Given the description of an element on the screen output the (x, y) to click on. 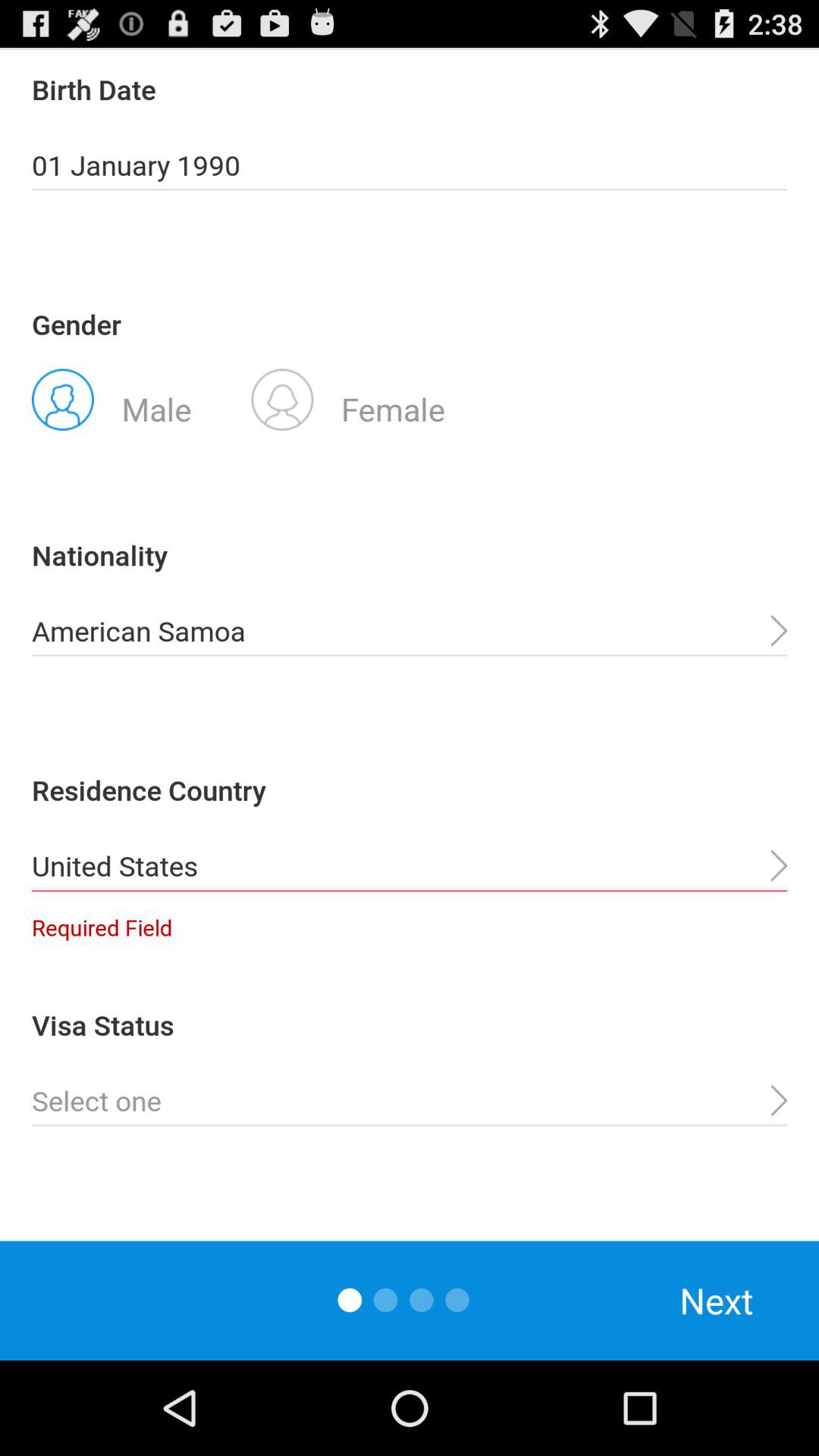
turn on the item next to the female icon (111, 398)
